Given the description of an element on the screen output the (x, y) to click on. 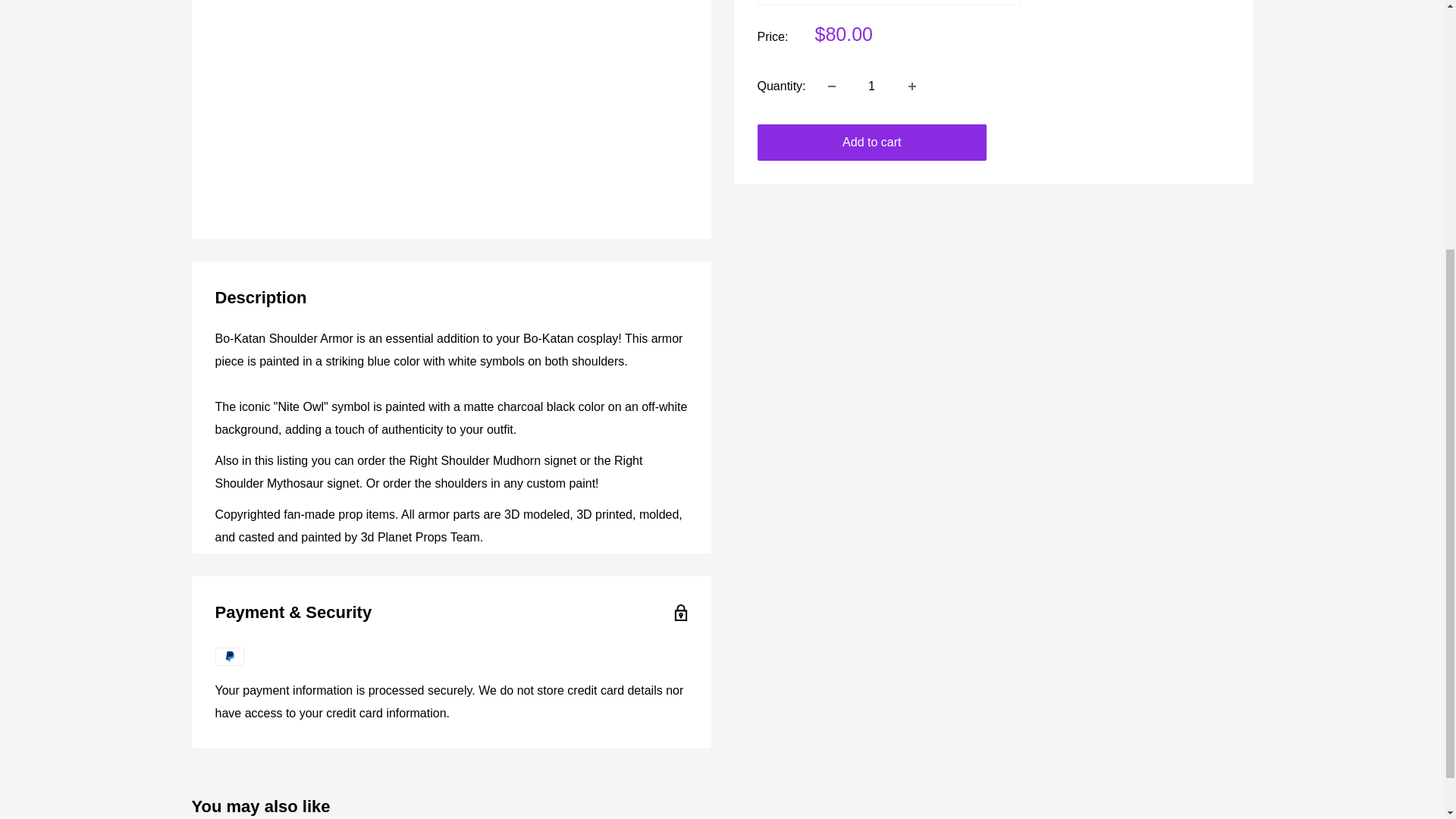
1 (871, 86)
Increase quantity by 1 (912, 86)
Decrease quantity by 1 (831, 86)
